Given the description of an element on the screen output the (x, y) to click on. 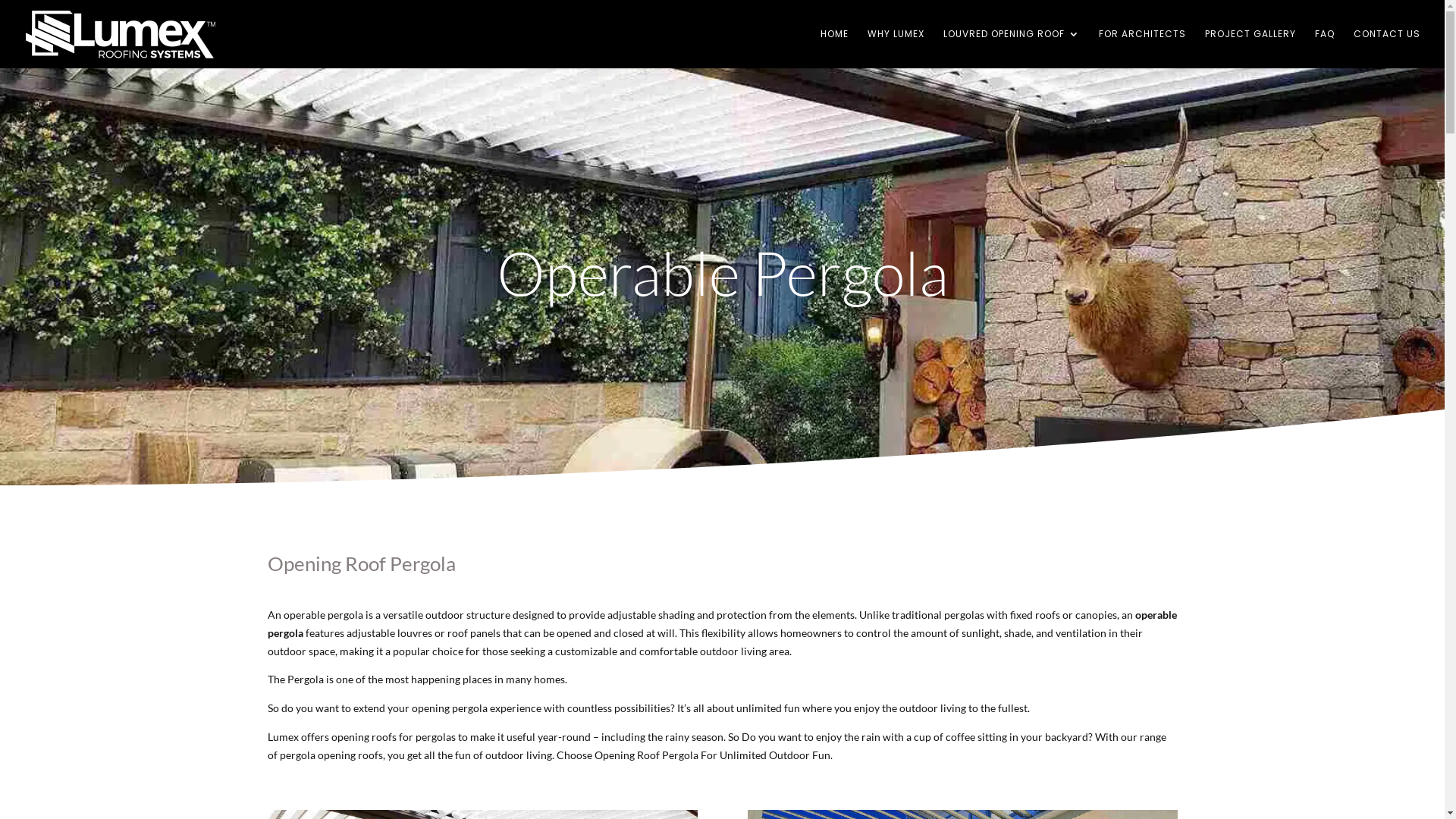
PROJECT GALLERY Element type: text (1249, 48)
CONTACT US Element type: text (1386, 48)
FAQ Element type: text (1324, 48)
HOME Element type: text (834, 48)
WHY LUMEX Element type: text (895, 48)
LOUVRED OPENING ROOF Element type: text (1011, 48)
FOR ARCHITECTS Element type: text (1142, 48)
